Given the description of an element on the screen output the (x, y) to click on. 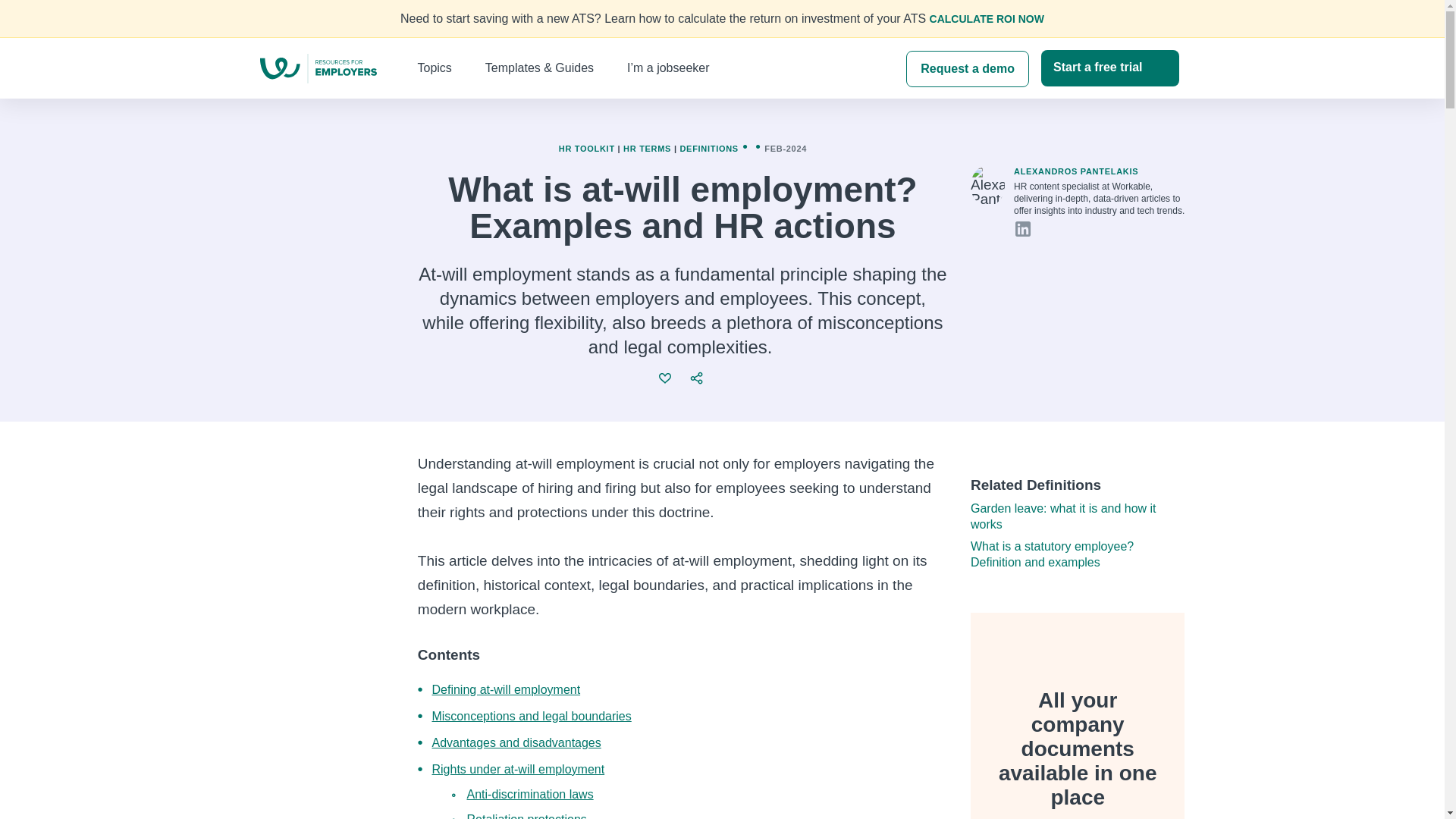
Anti-discrimination laws (528, 793)
CALCULATE ROI NOW (986, 19)
Advantages and disadvantages (514, 742)
Garden leave: what it is and how it works (1063, 516)
Topics (437, 68)
Defining at-will employment (504, 689)
Like (666, 377)
Retaliation protections (525, 816)
Rights under at-will employment (517, 768)
Misconceptions and legal boundaries (530, 716)
Linkedin (1022, 229)
What is a statutory employee? Definition and examples (1052, 553)
